Given the description of an element on the screen output the (x, y) to click on. 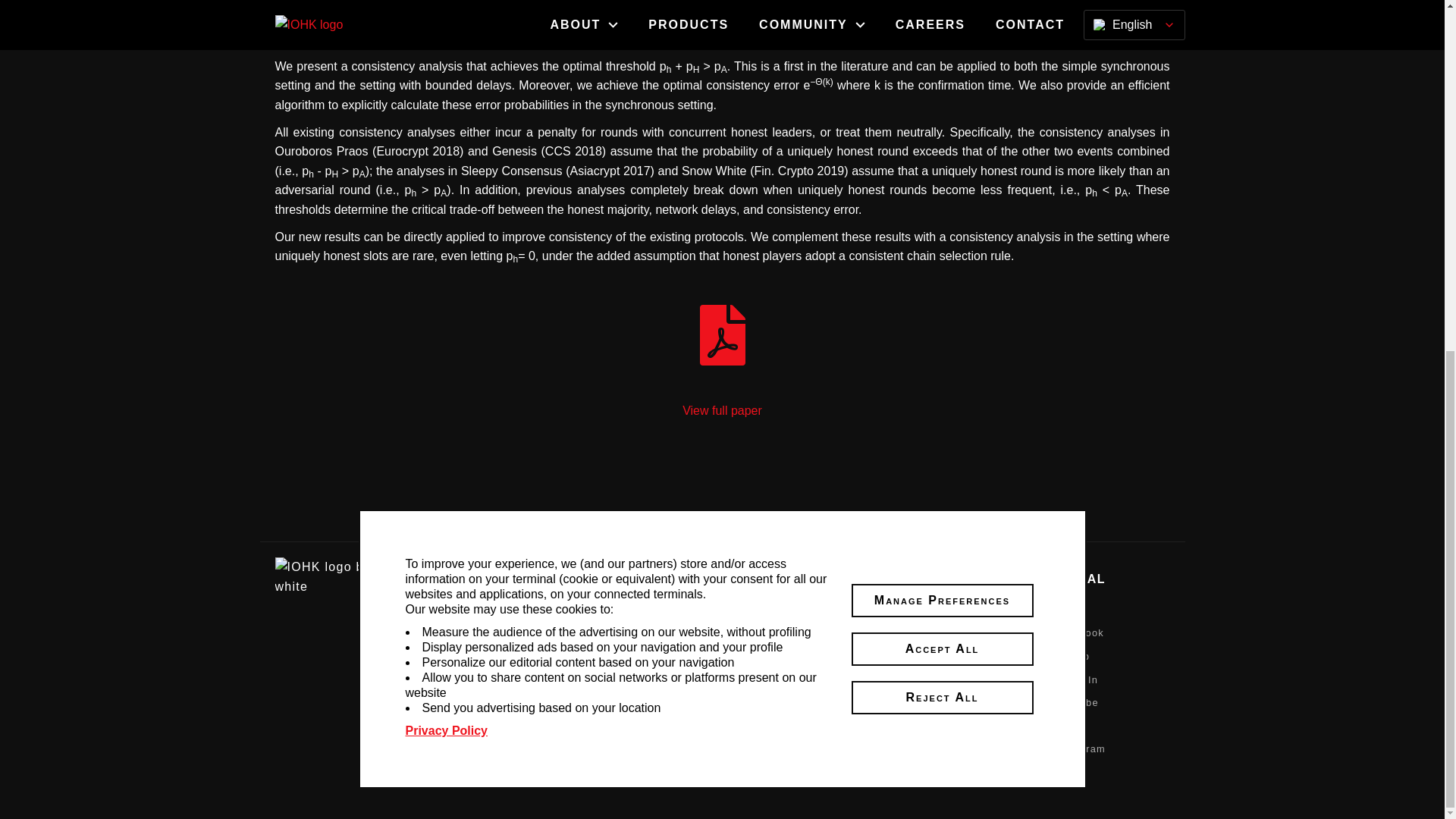
Media (698, 609)
Plutus (575, 748)
Manage Preferences (941, 3)
Marlowe (580, 726)
Accept All (941, 38)
IOG Academy (841, 632)
View full paper (721, 362)
Daedalus (583, 632)
Cardano (581, 609)
Reject All (941, 87)
Plutus Pioneers (847, 609)
Catalyst (580, 702)
Lace (572, 679)
Privacy Policy (445, 120)
Atala PRISM (592, 655)
